Given the description of an element on the screen output the (x, y) to click on. 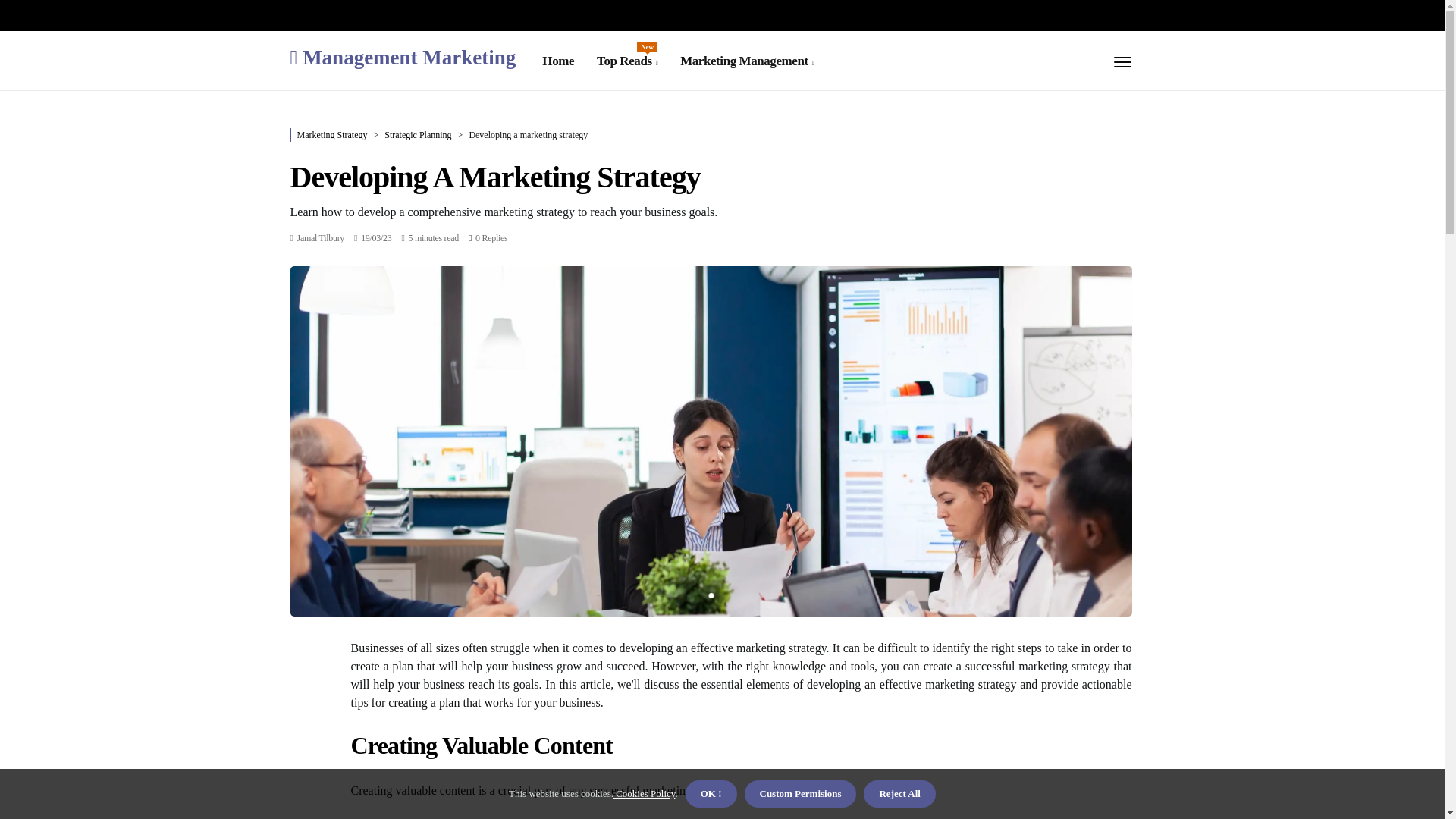
Management Marketing (402, 56)
Marketing Management (746, 61)
Posts by Jamal Tilbury (320, 236)
